Given the description of an element on the screen output the (x, y) to click on. 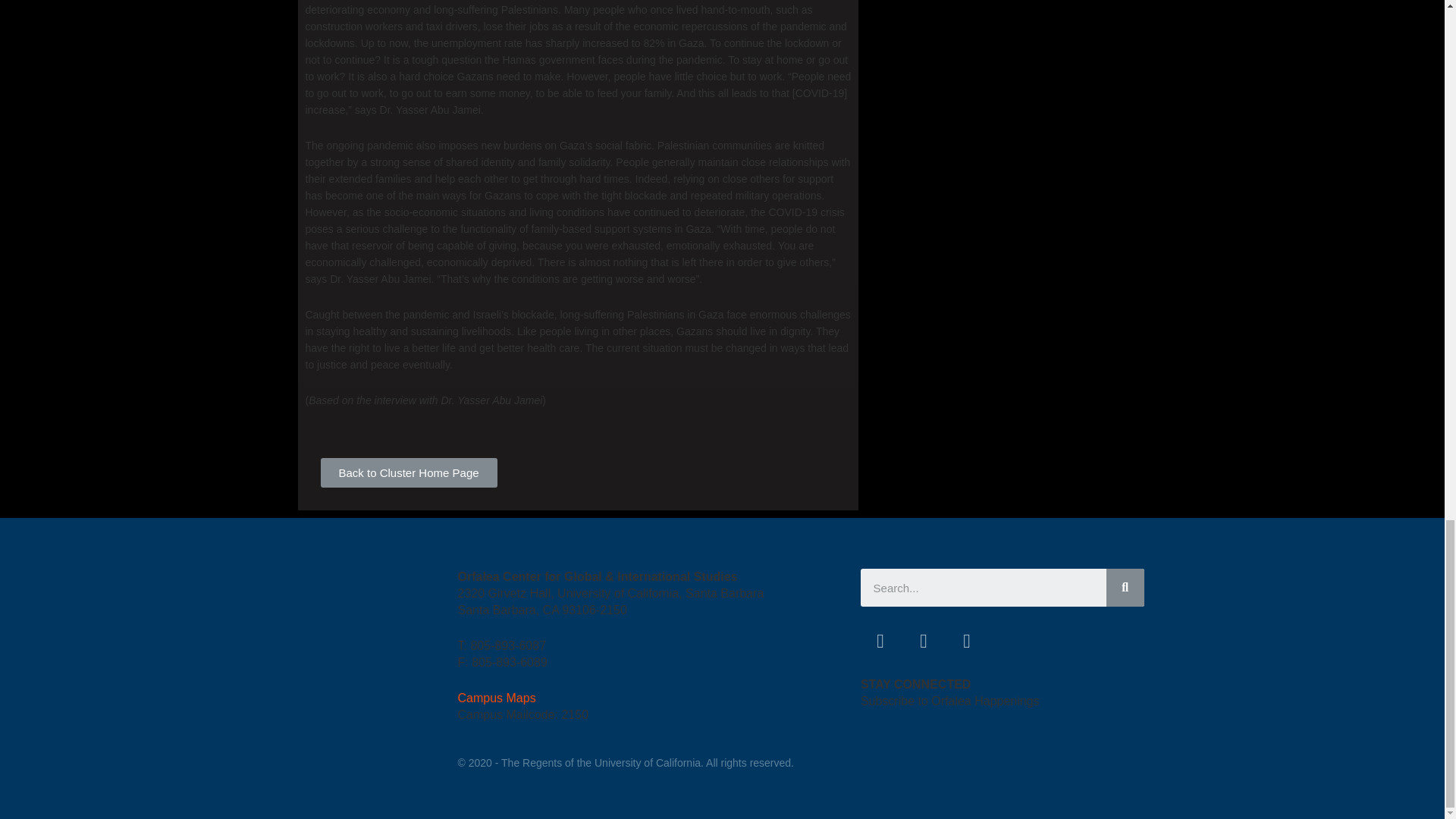
Search (1125, 587)
Search (983, 587)
Back to Cluster Home Page (408, 472)
